Given the description of an element on the screen output the (x, y) to click on. 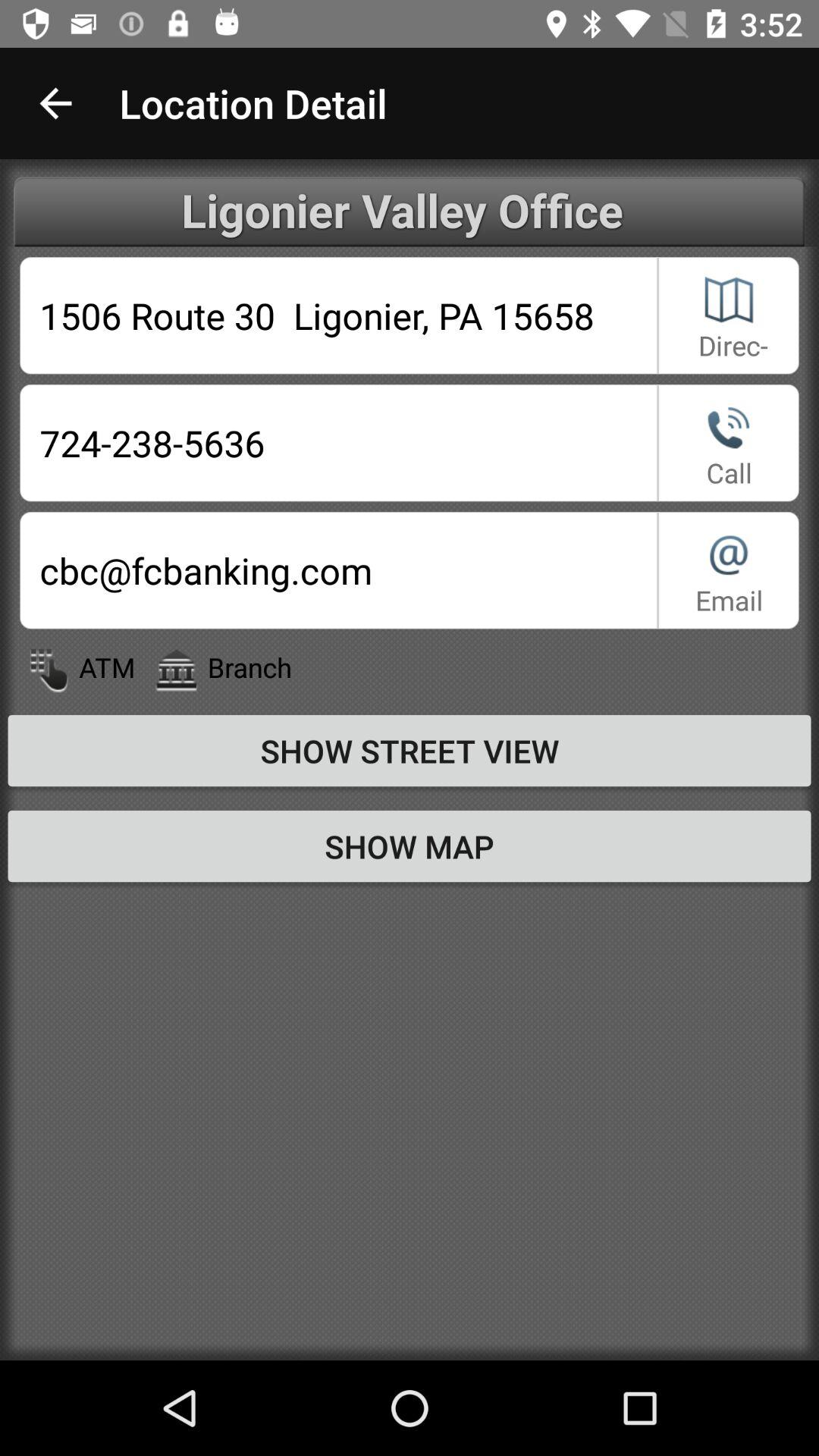
turn off the icon to the left of location detail (55, 103)
